Given the description of an element on the screen output the (x, y) to click on. 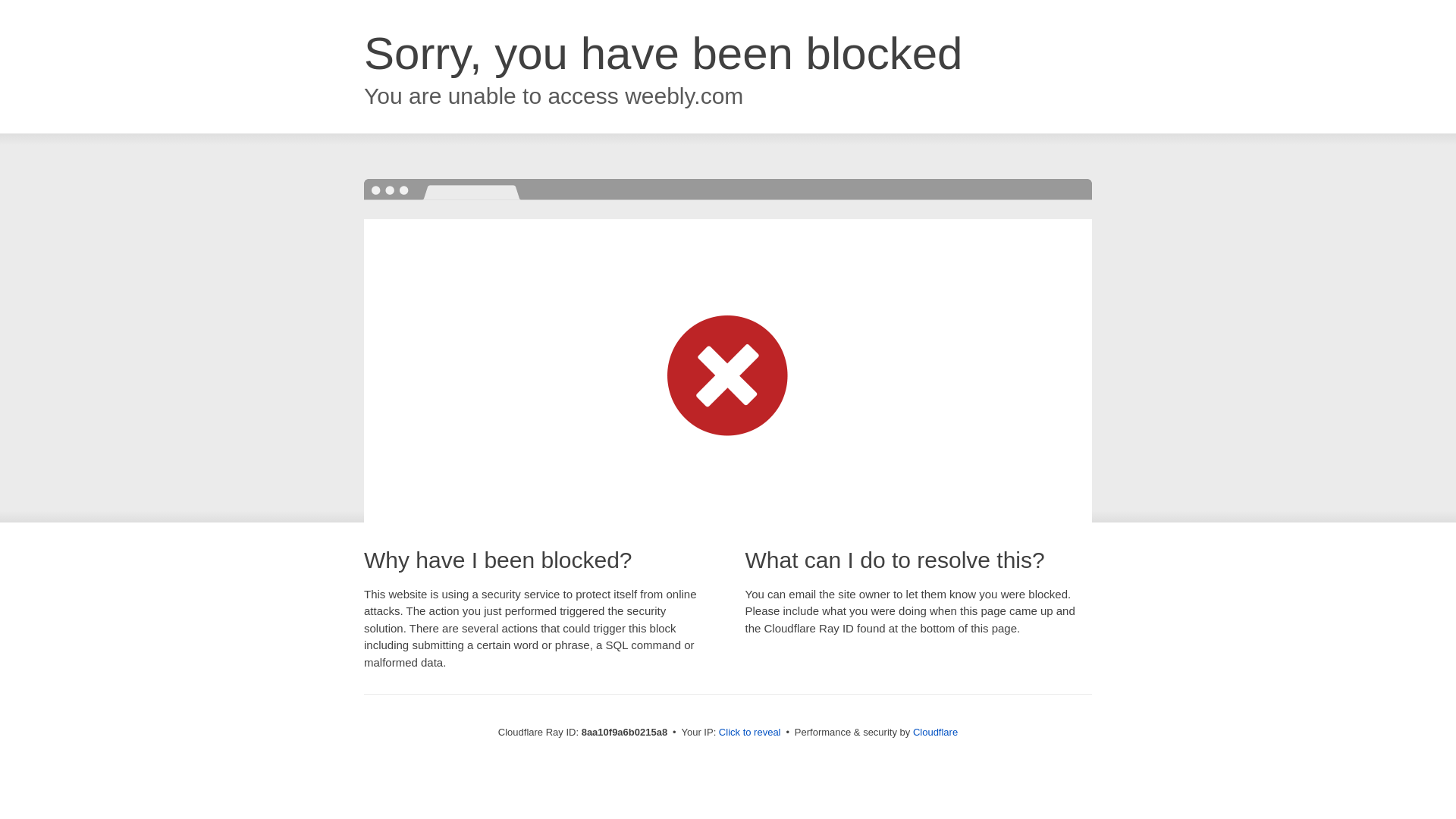
Cloudflare (935, 731)
Click to reveal (749, 732)
